Given the description of an element on the screen output the (x, y) to click on. 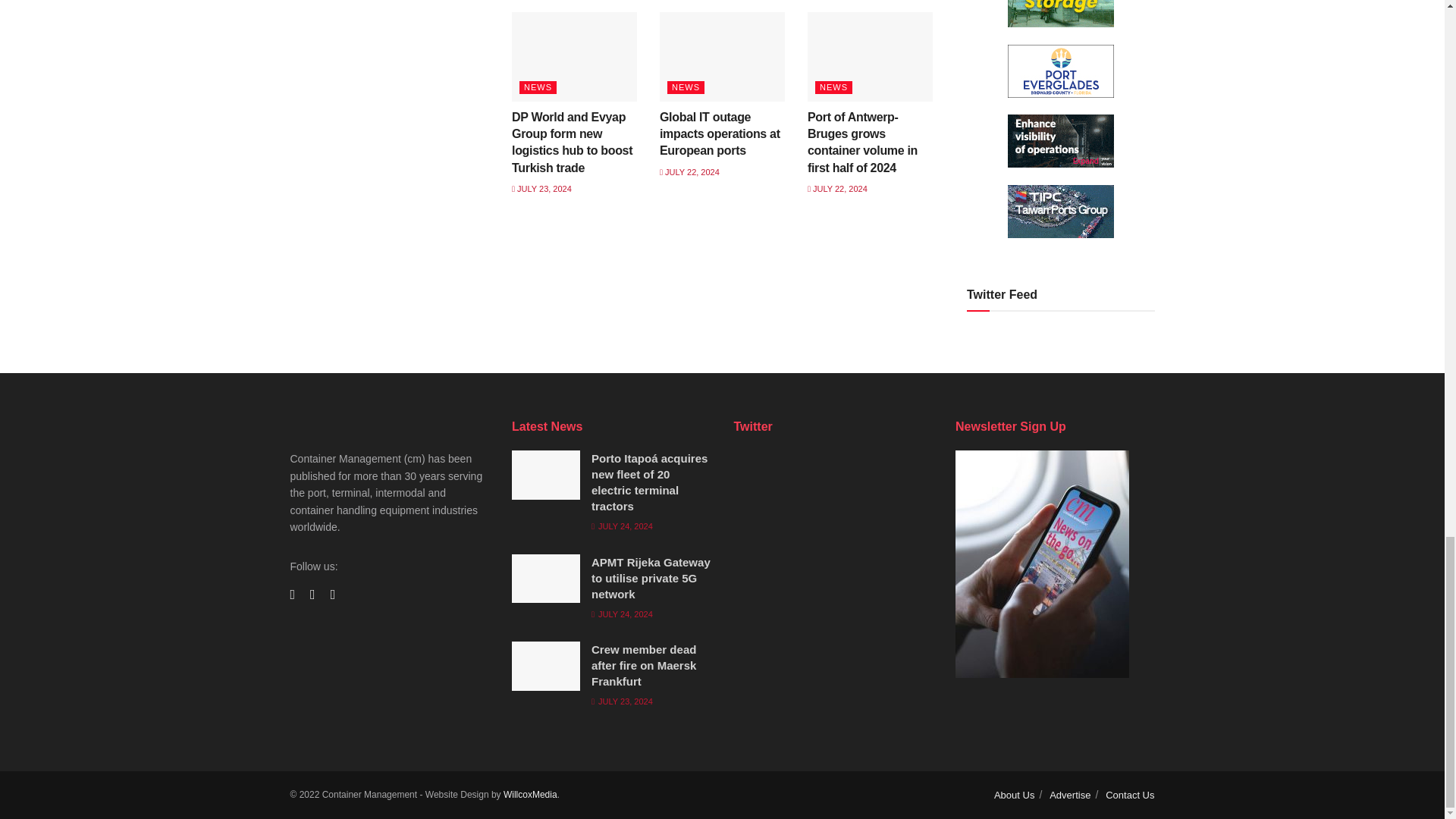
willcoxmedia (530, 794)
